Given the description of an element on the screen output the (x, y) to click on. 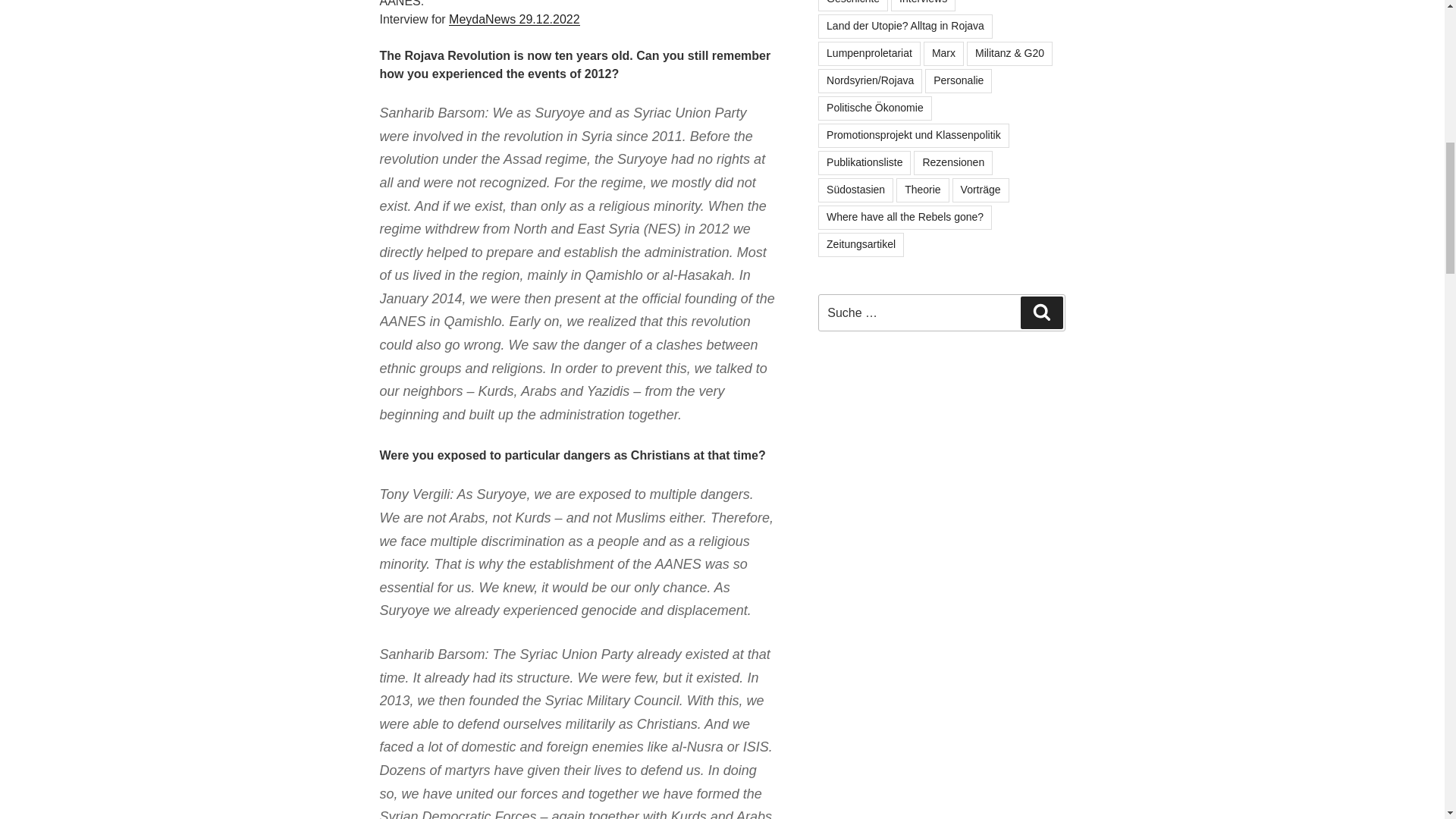
MeydaNews 29.12.2022 (513, 19)
Geschichte (853, 5)
Interviews (923, 5)
